Given the description of an element on the screen output the (x, y) to click on. 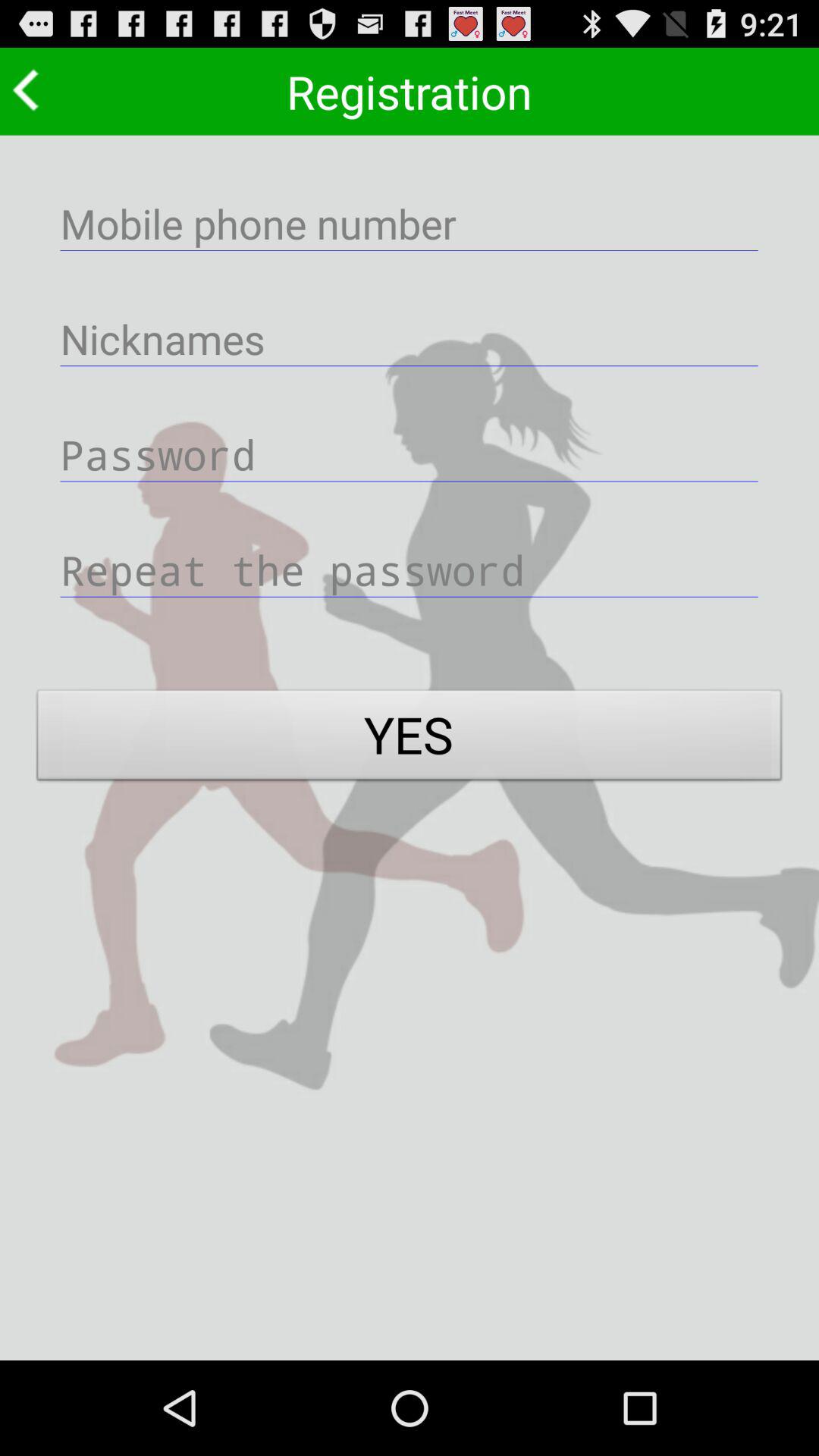
type password (409, 453)
